Given the description of an element on the screen output the (x, y) to click on. 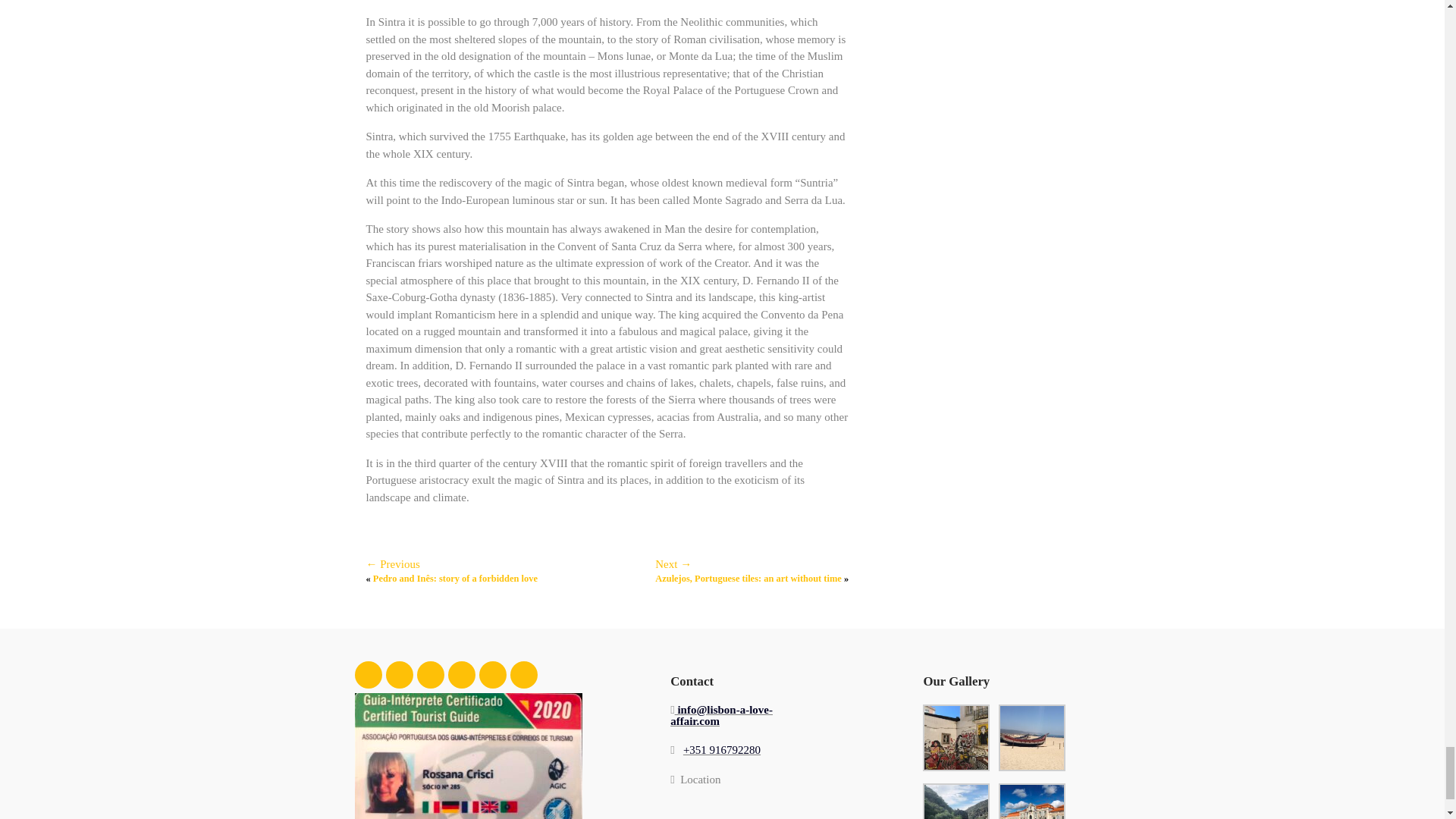
Azulejos, Portuguese tiles: an art without time (748, 578)
